Given the description of an element on the screen output the (x, y) to click on. 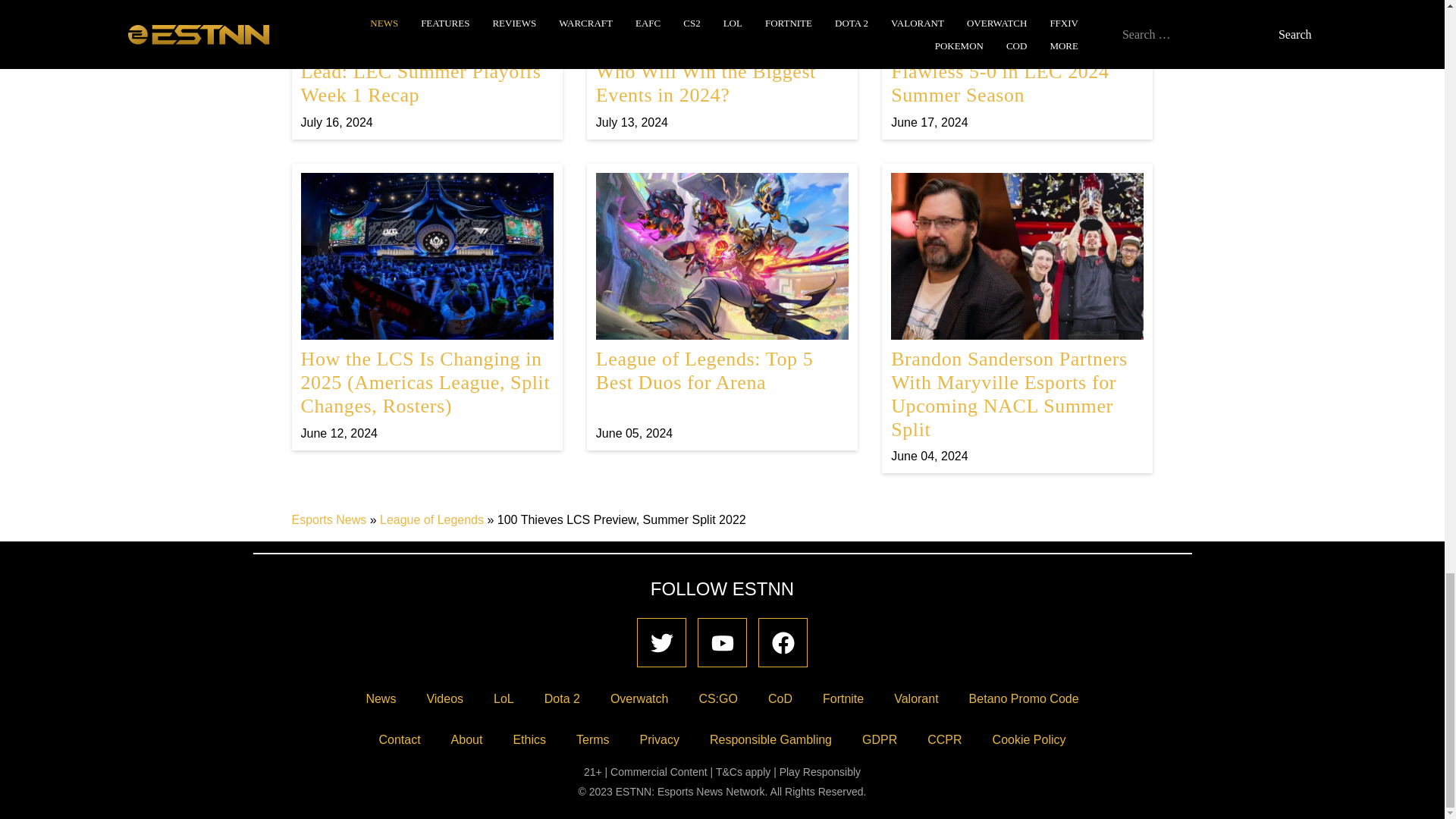
League of Legends: Top 5 Best Duos for Arena (721, 306)
Esports News (721, 306)
